Given the description of an element on the screen output the (x, y) to click on. 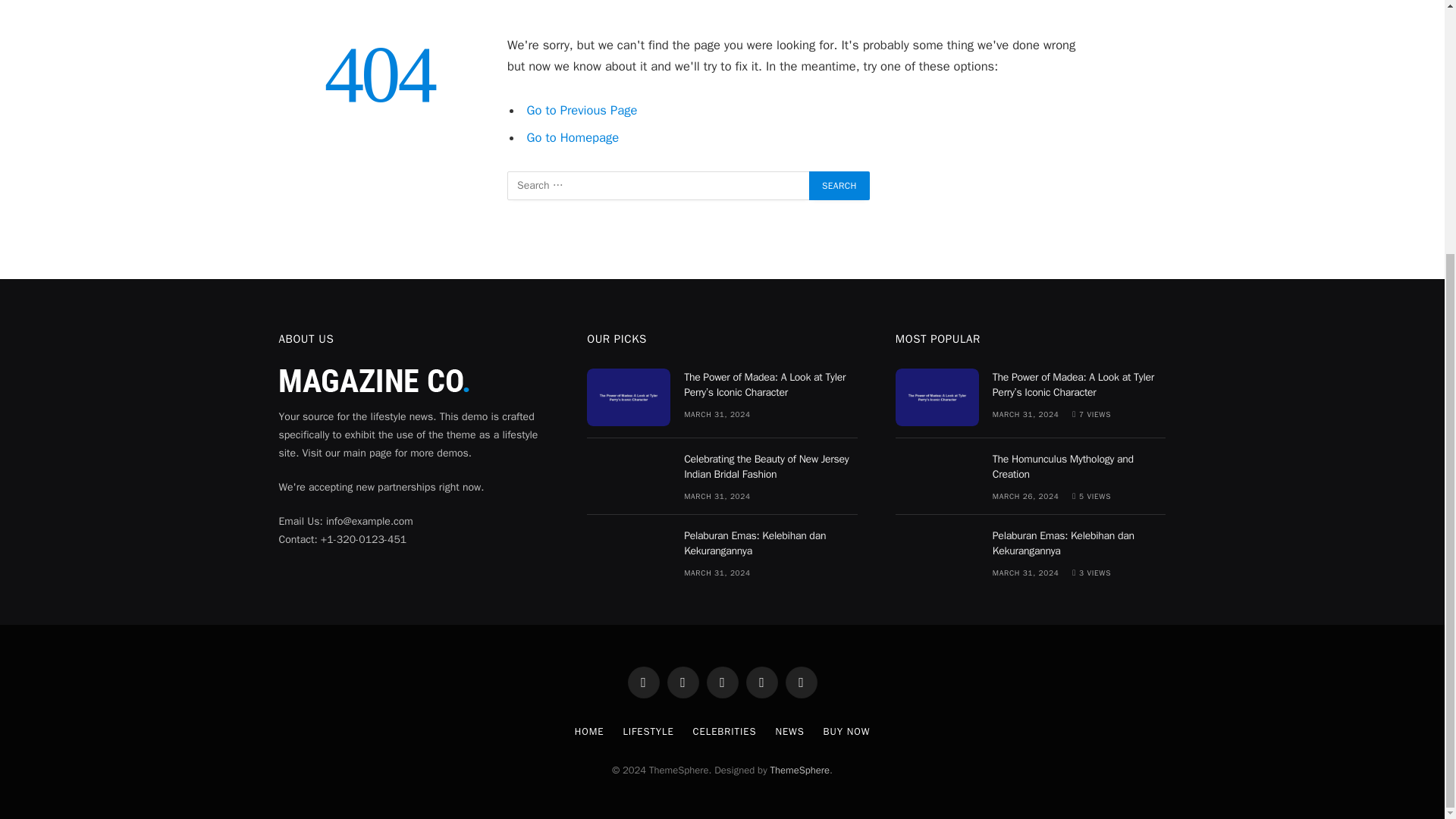
Search (839, 185)
7 Article Views (1090, 414)
3 Article Views (1090, 573)
Search (839, 185)
5 Article Views (1090, 496)
